Given the description of an element on the screen output the (x, y) to click on. 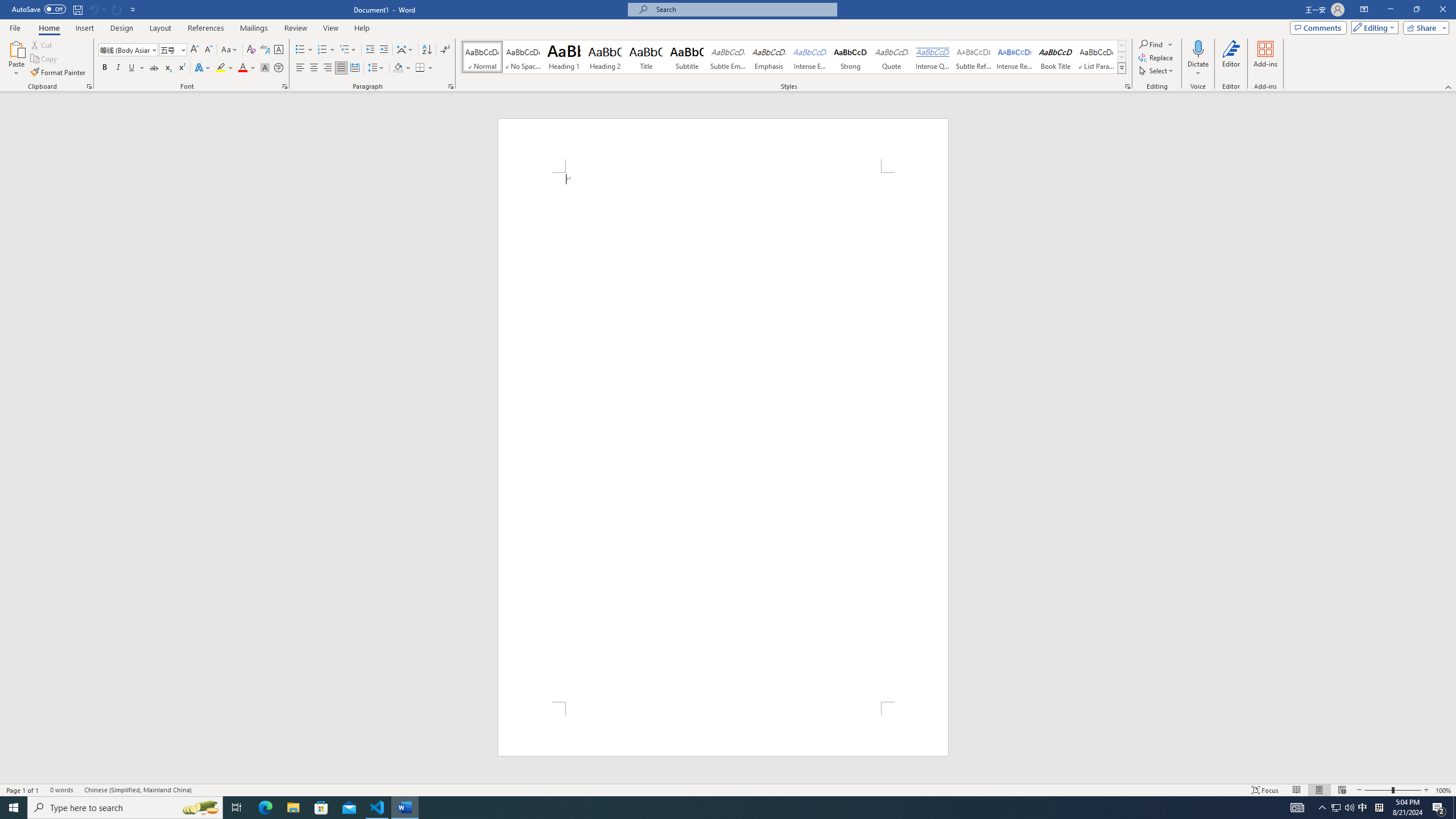
Subtle Emphasis (727, 56)
Page 1 content (723, 436)
